Given the description of an element on the screen output the (x, y) to click on. 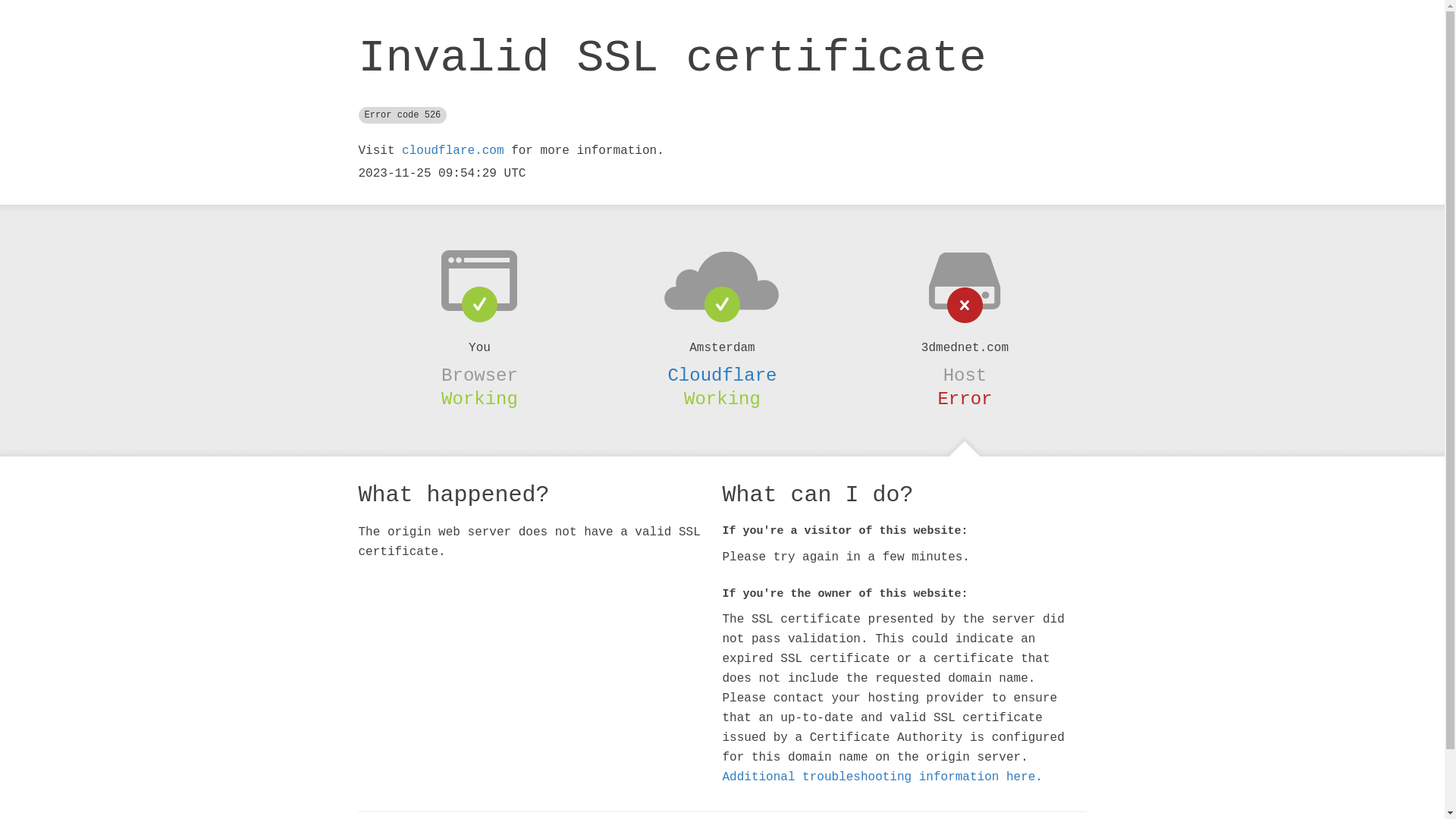
cloudflare.com Element type: text (452, 150)
Additional troubleshooting information here. Element type: text (881, 777)
Cloudflare Element type: text (721, 375)
